Given the description of an element on the screen output the (x, y) to click on. 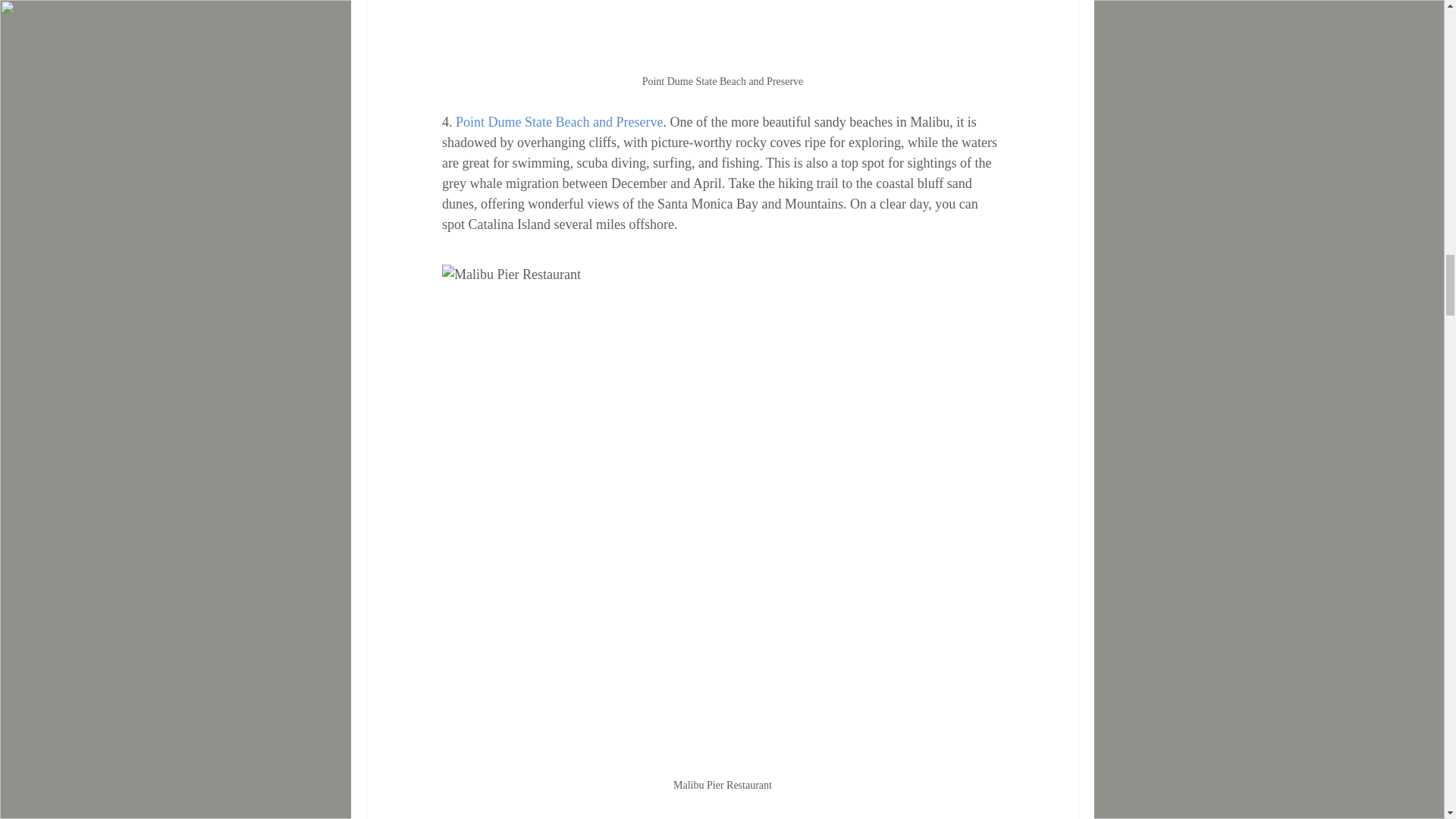
Malibu Pier. (488, 818)
Point Dume State Beach and Preserve (558, 121)
